Given the description of an element on the screen output the (x, y) to click on. 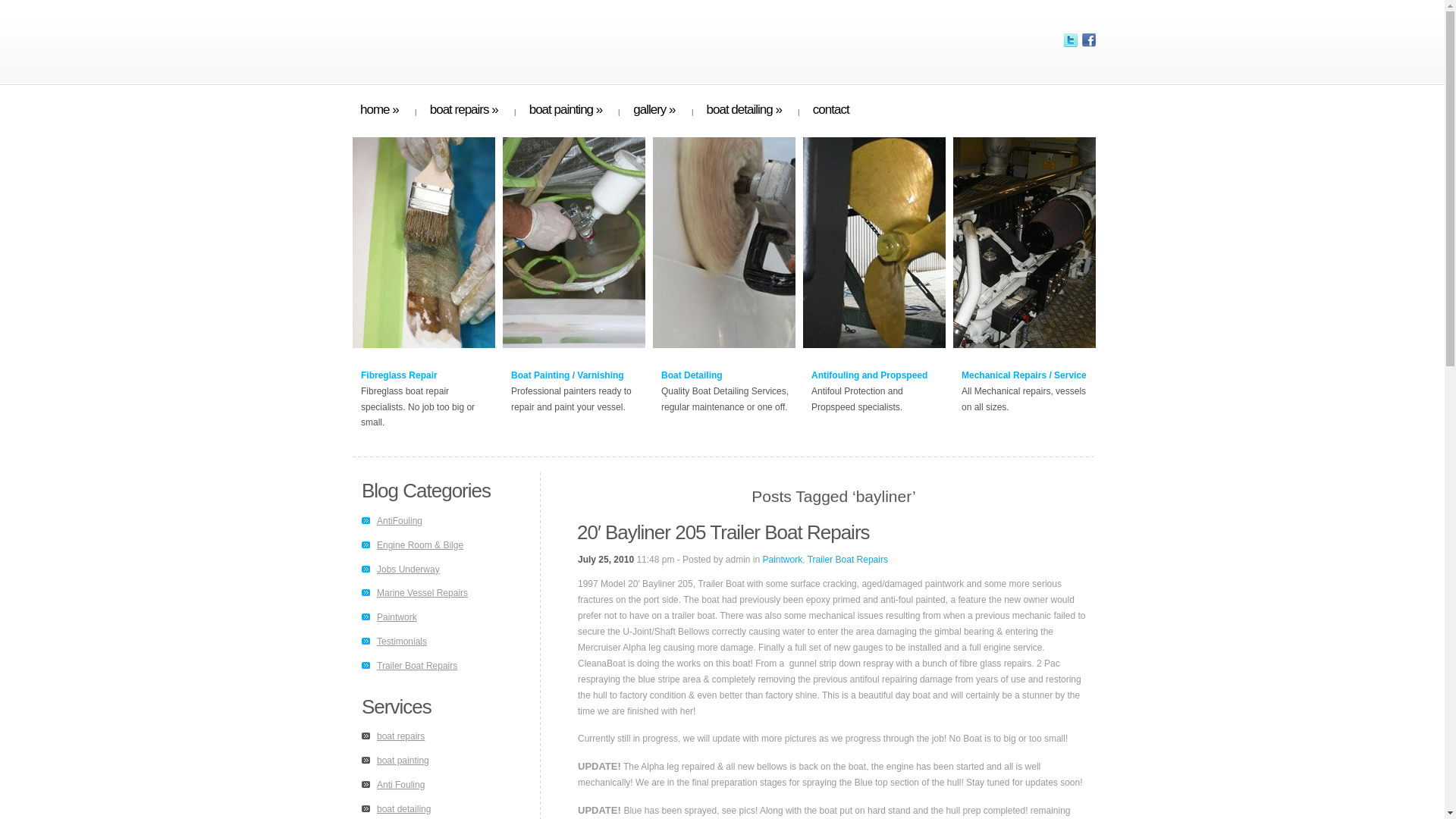
AntiFouling (399, 520)
View all posts filed under Paintwork (396, 616)
Marine Vessel Repairs (422, 593)
Jobs Underway (408, 569)
View all posts filed under Testimonials (401, 641)
contact (830, 110)
